Given the description of an element on the screen output the (x, y) to click on. 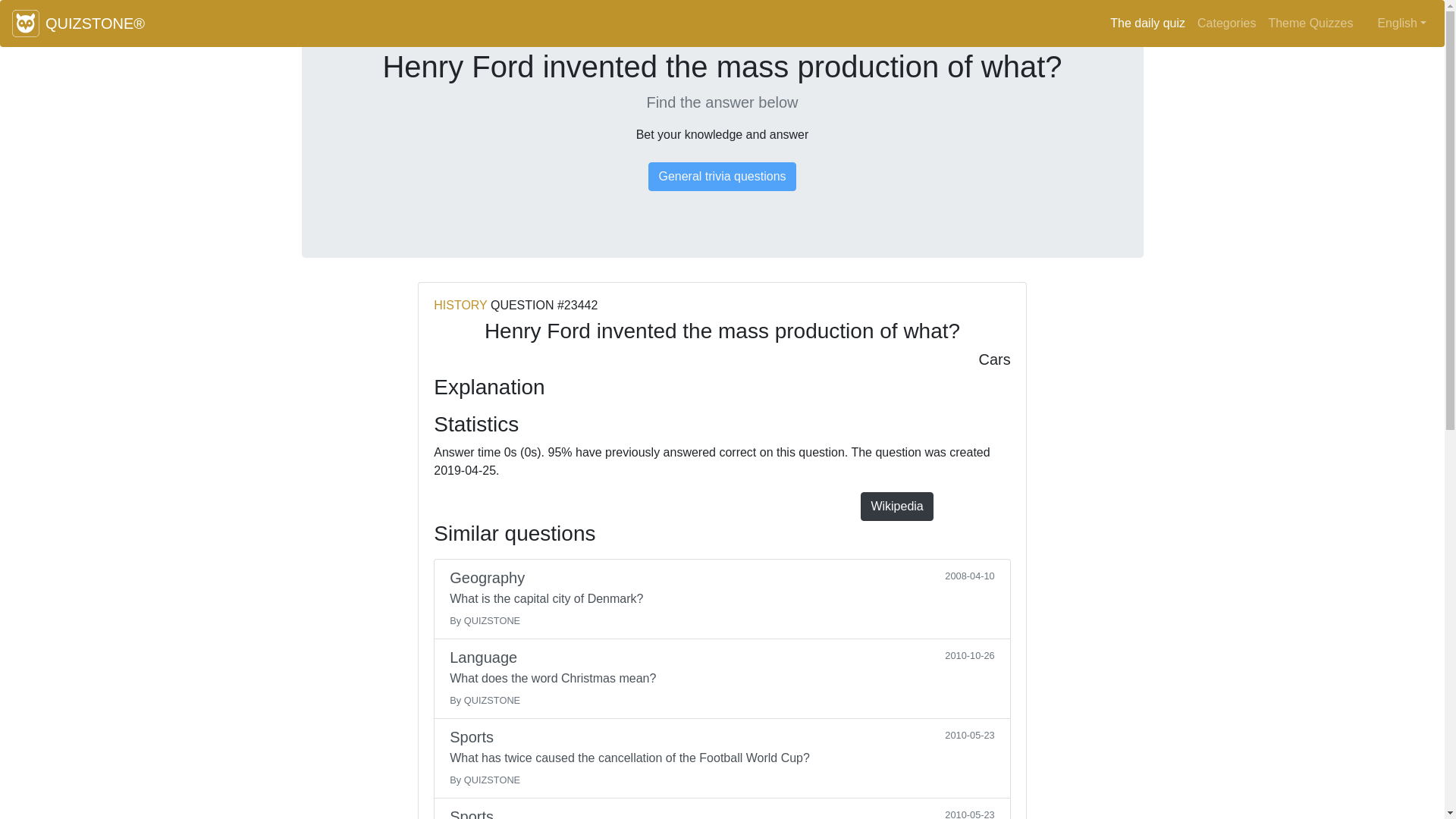
Categories (1226, 23)
Wikipedia (896, 506)
General trivia questions (720, 176)
English (1401, 23)
Theme Quizzes (1310, 23)
